Given the description of an element on the screen output the (x, y) to click on. 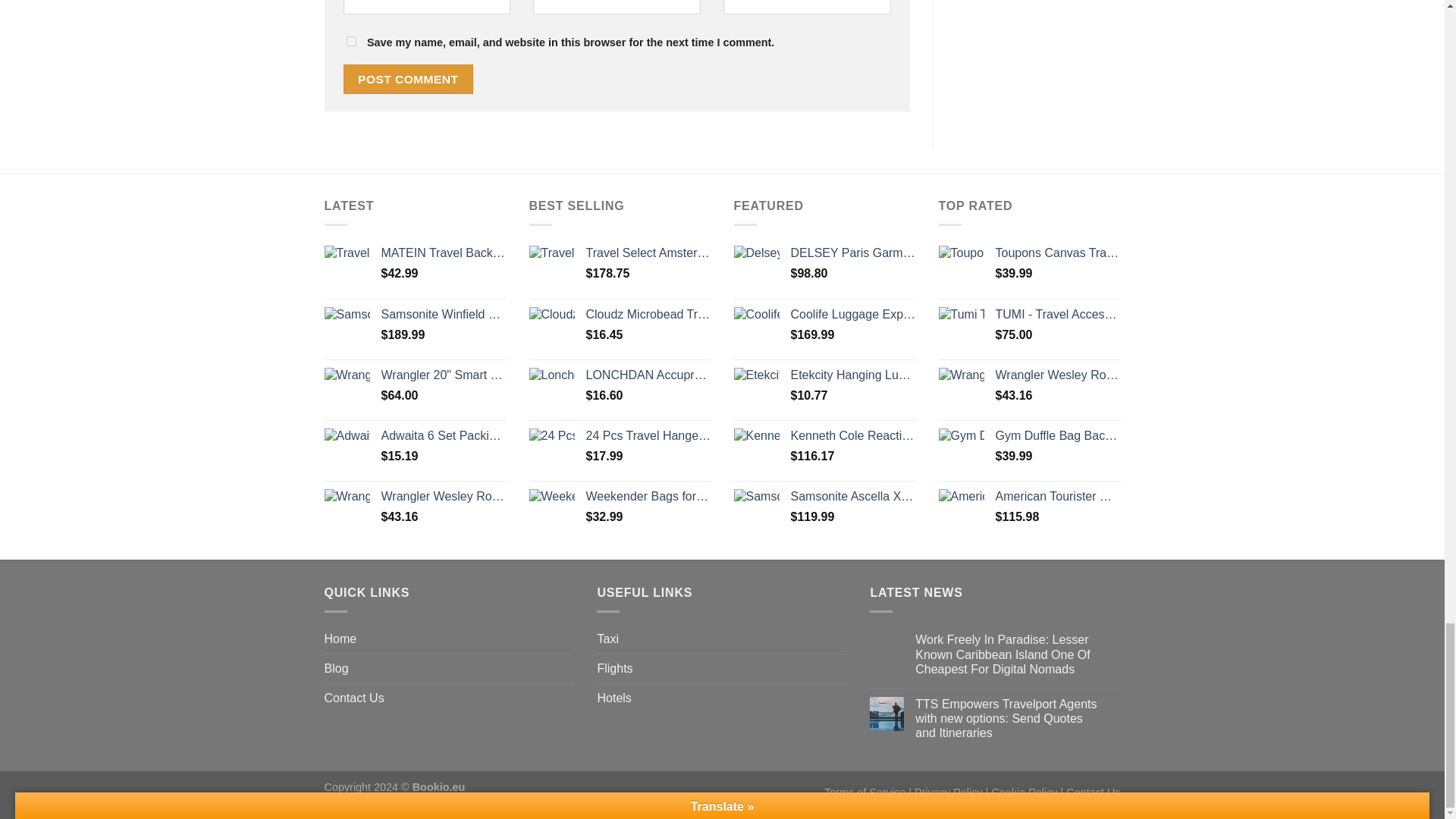
yes (350, 40)
Post Comment (407, 79)
